Given the description of an element on the screen output the (x, y) to click on. 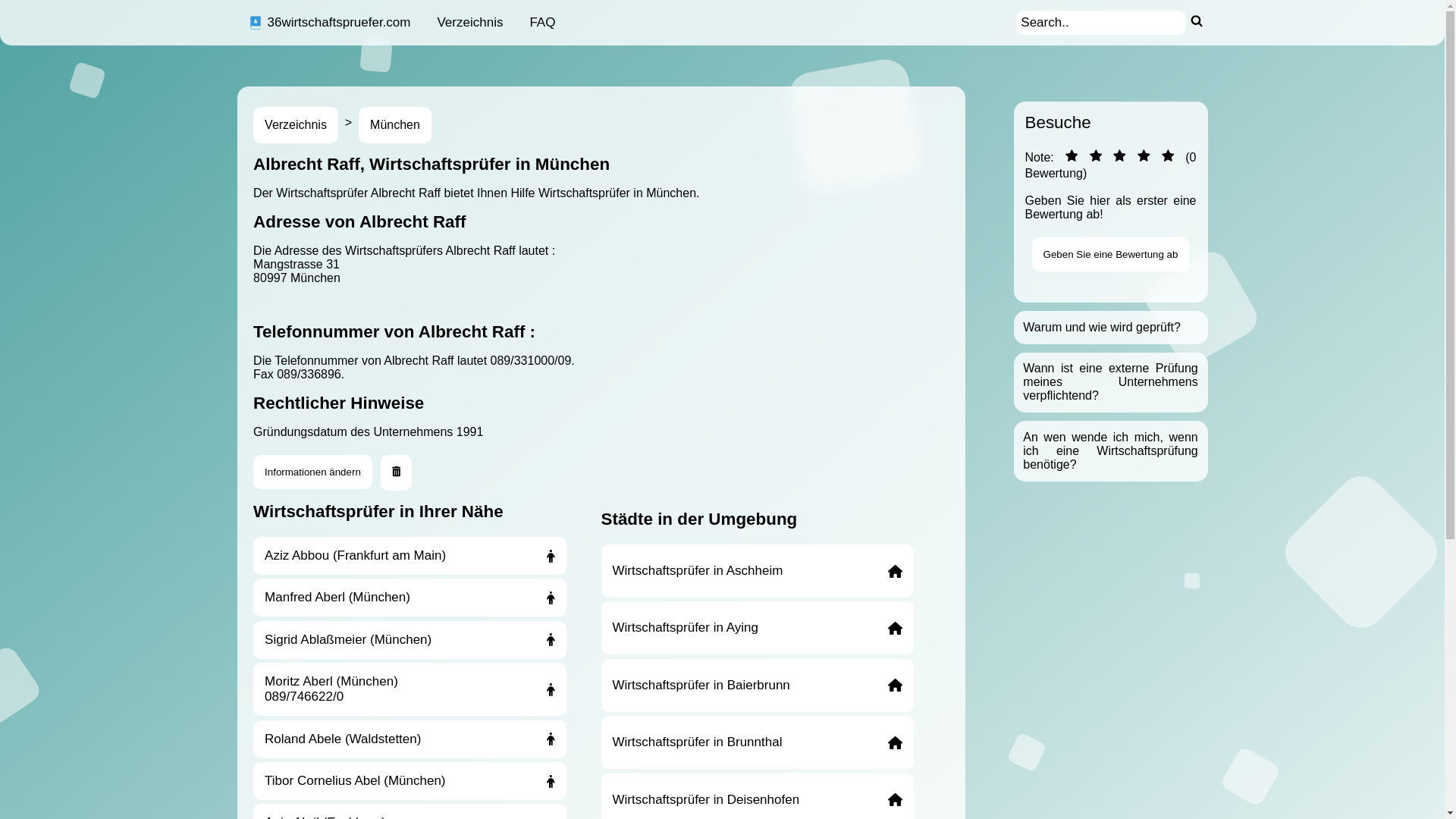
Roland Abele (Waldstetten) Element type: text (409, 739)
FAQ Element type: text (541, 22)
089/331000/09 Element type: text (530, 360)
Verzeichnis Element type: text (295, 124)
Aziz Abbou (Frankfurt am Main) Element type: text (409, 555)
Verzeichnis Element type: text (469, 22)
Geben Sie eine Bewertung ab Element type: text (1110, 254)
36wirtschaftspruefer.com Element type: text (328, 22)
